Given the description of an element on the screen output the (x, y) to click on. 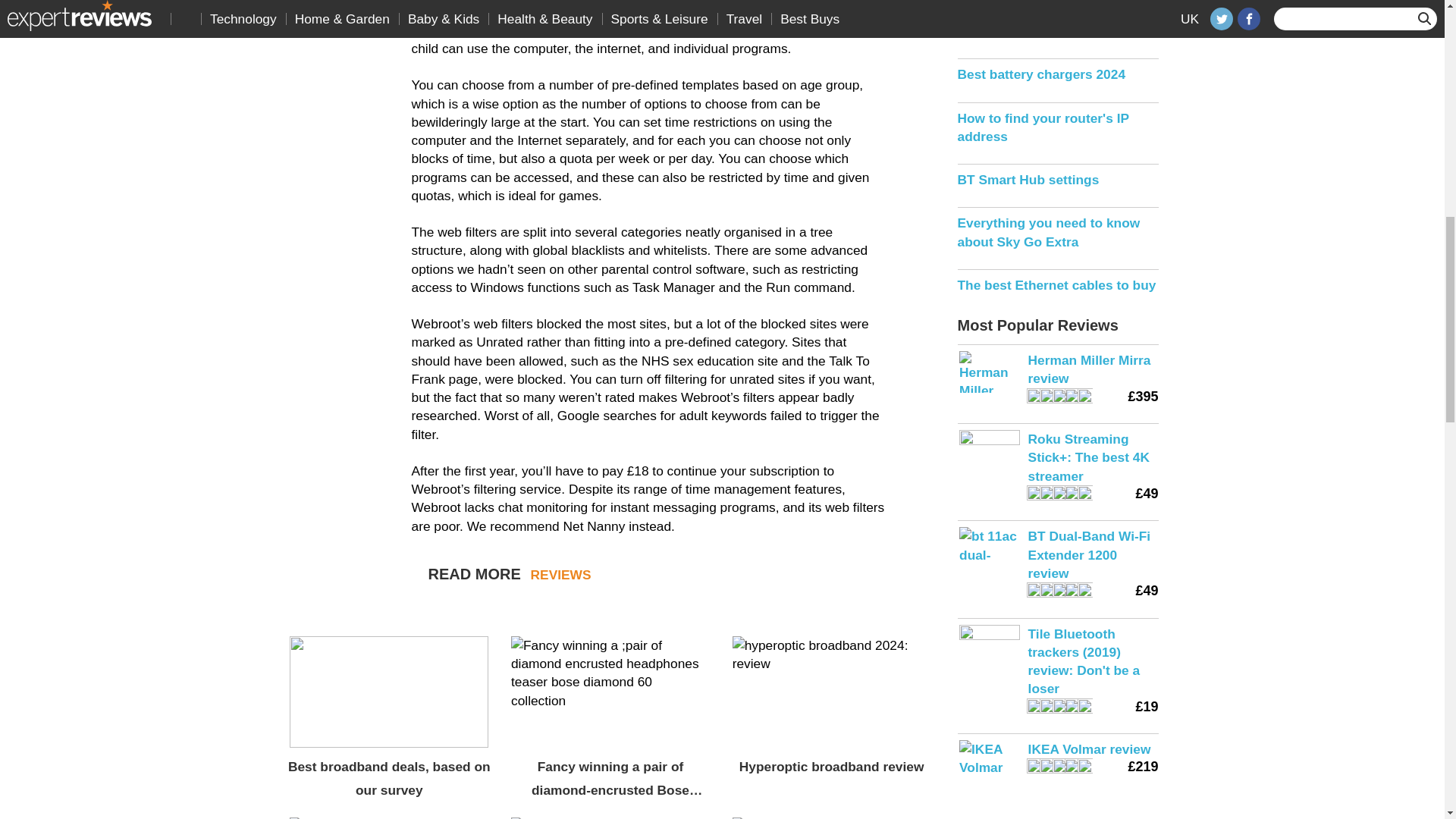
Fancy winning a pair of diamond-encrusted Bose headphones? (609, 778)
Best broadband deals, based on our survey (389, 778)
REVIEWS (561, 574)
Hyperoptic broadband review (831, 766)
